Given the description of an element on the screen output the (x, y) to click on. 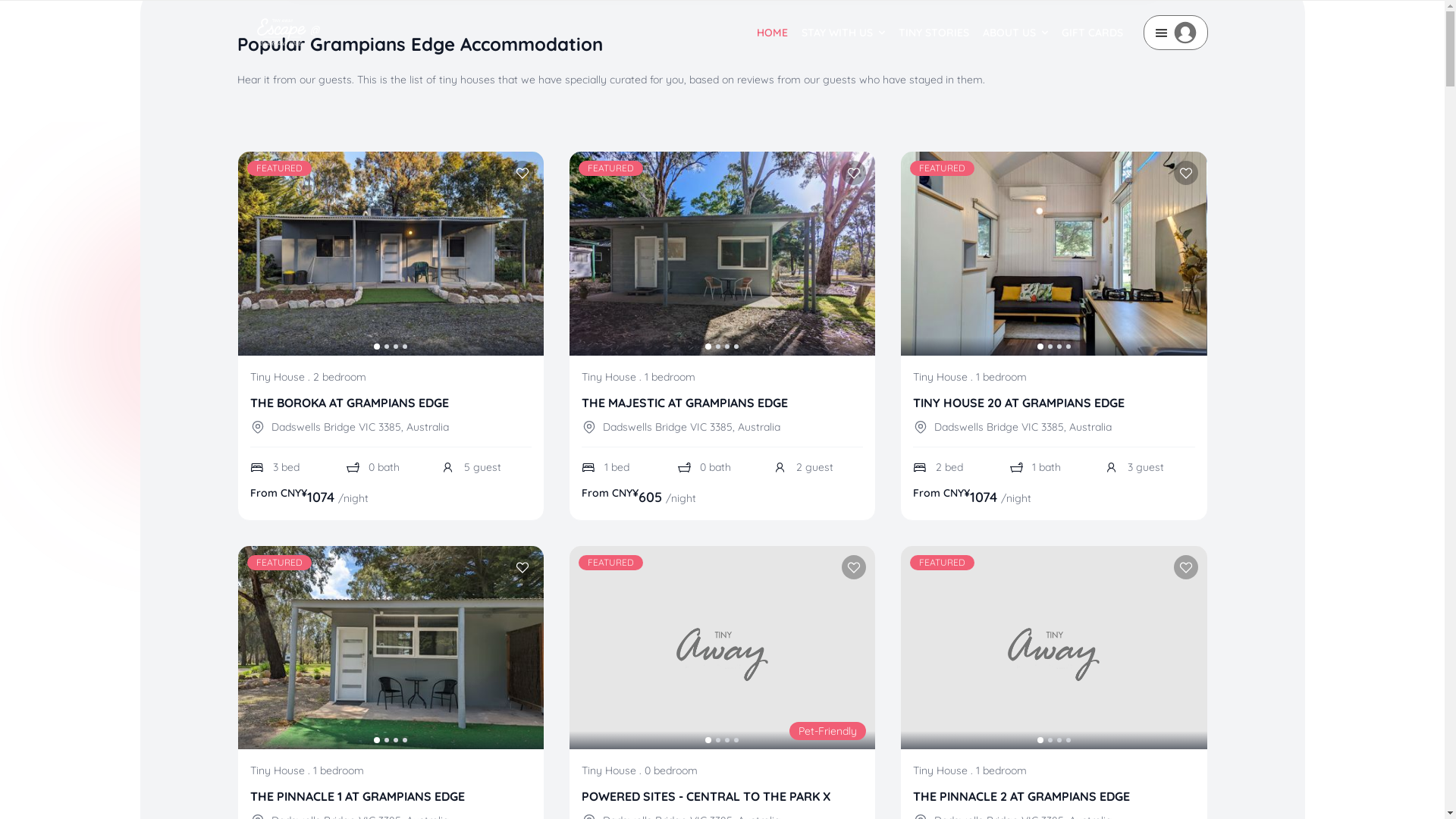
Save Element type: hover (853, 567)
Save Element type: hover (1185, 567)
TINY STORIES Element type: text (933, 32)
Save Element type: hover (522, 172)
HOME Element type: text (771, 32)
Save Element type: hover (522, 567)
Save Element type: hover (1185, 172)
ABOUT US Element type: text (1014, 32)
Save Element type: hover (853, 172)
GIFT CARDS Element type: text (1091, 32)
STAY WITH US Element type: text (843, 32)
